Given the description of an element on the screen output the (x, y) to click on. 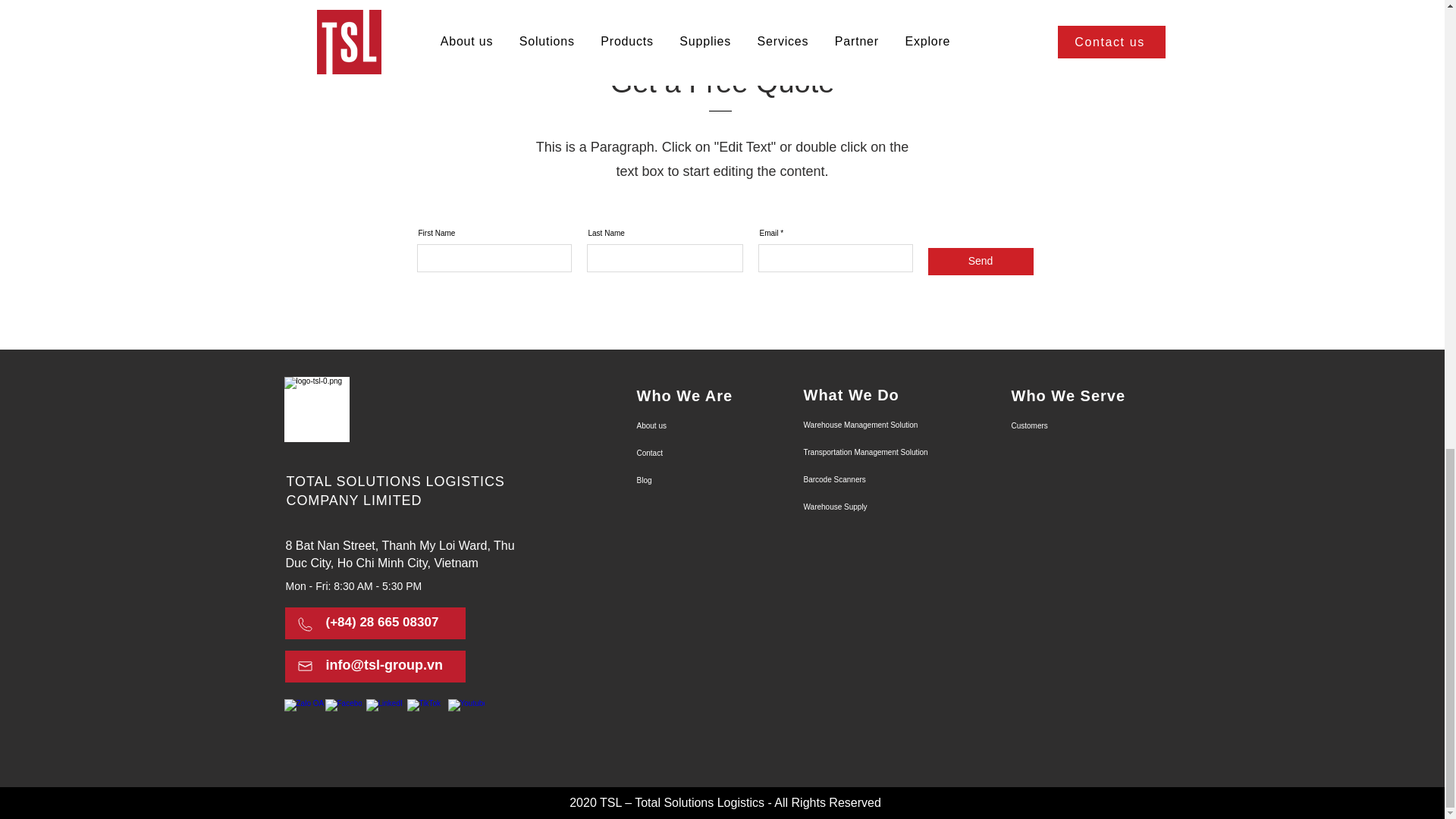
Customers (1064, 425)
Contact (690, 452)
Transportation Management Solution (857, 452)
Warehouse Management Solution (857, 424)
Blog (690, 480)
Warehouse Supply (857, 506)
Send (980, 261)
About us (690, 425)
Barcode Scanners (857, 479)
